Given the description of an element on the screen output the (x, y) to click on. 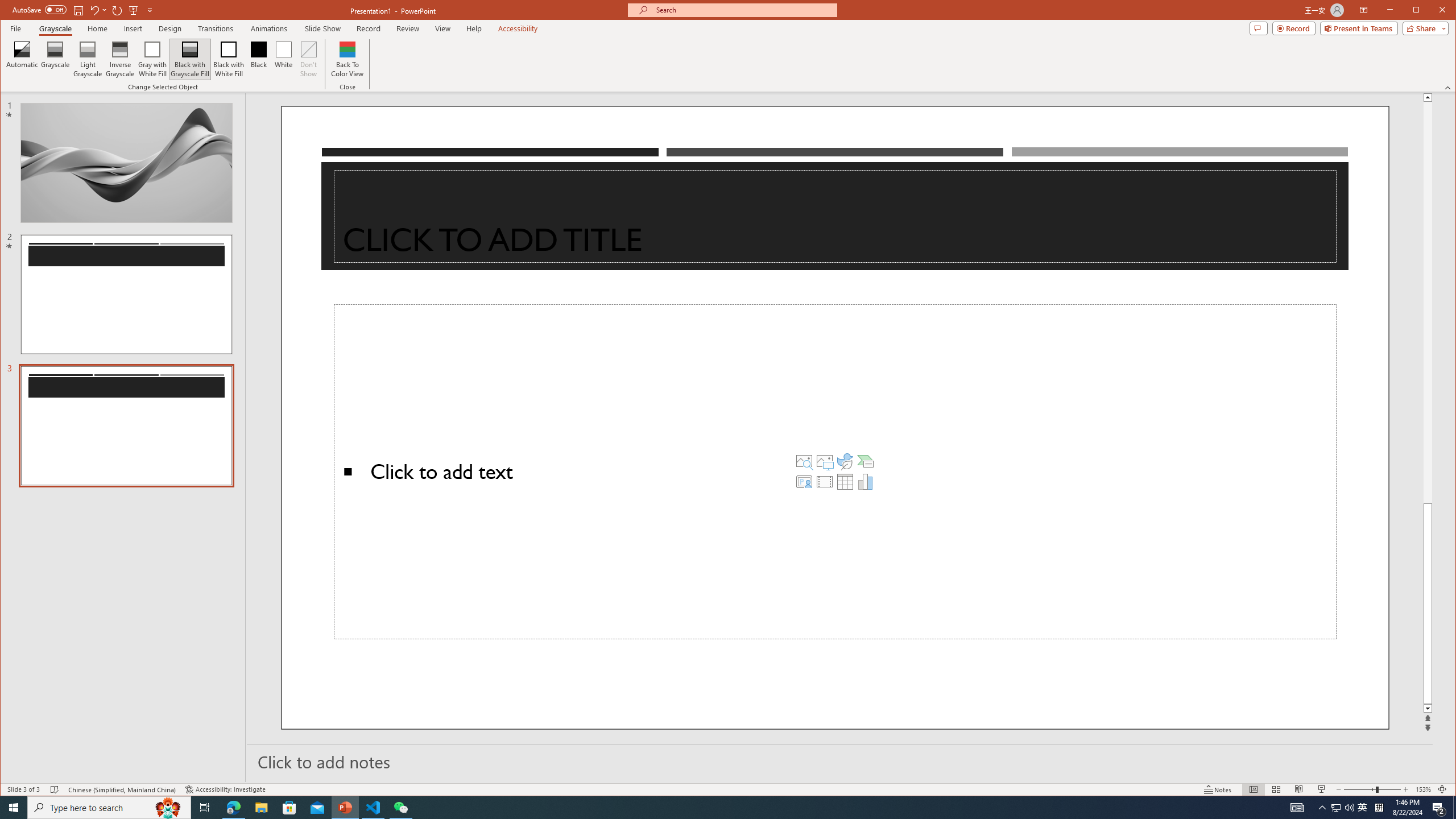
Grayscale (55, 28)
Tray Input Indicator - Chinese (Simplified, China) (1378, 807)
Insert Cameo (803, 481)
File Explorer (261, 807)
Type here to search (108, 807)
Zoom 153% (1422, 789)
Automatic (22, 59)
Black (258, 59)
Insert a SmartArt Graphic (865, 461)
Back To Color View (347, 59)
